Given the description of an element on the screen output the (x, y) to click on. 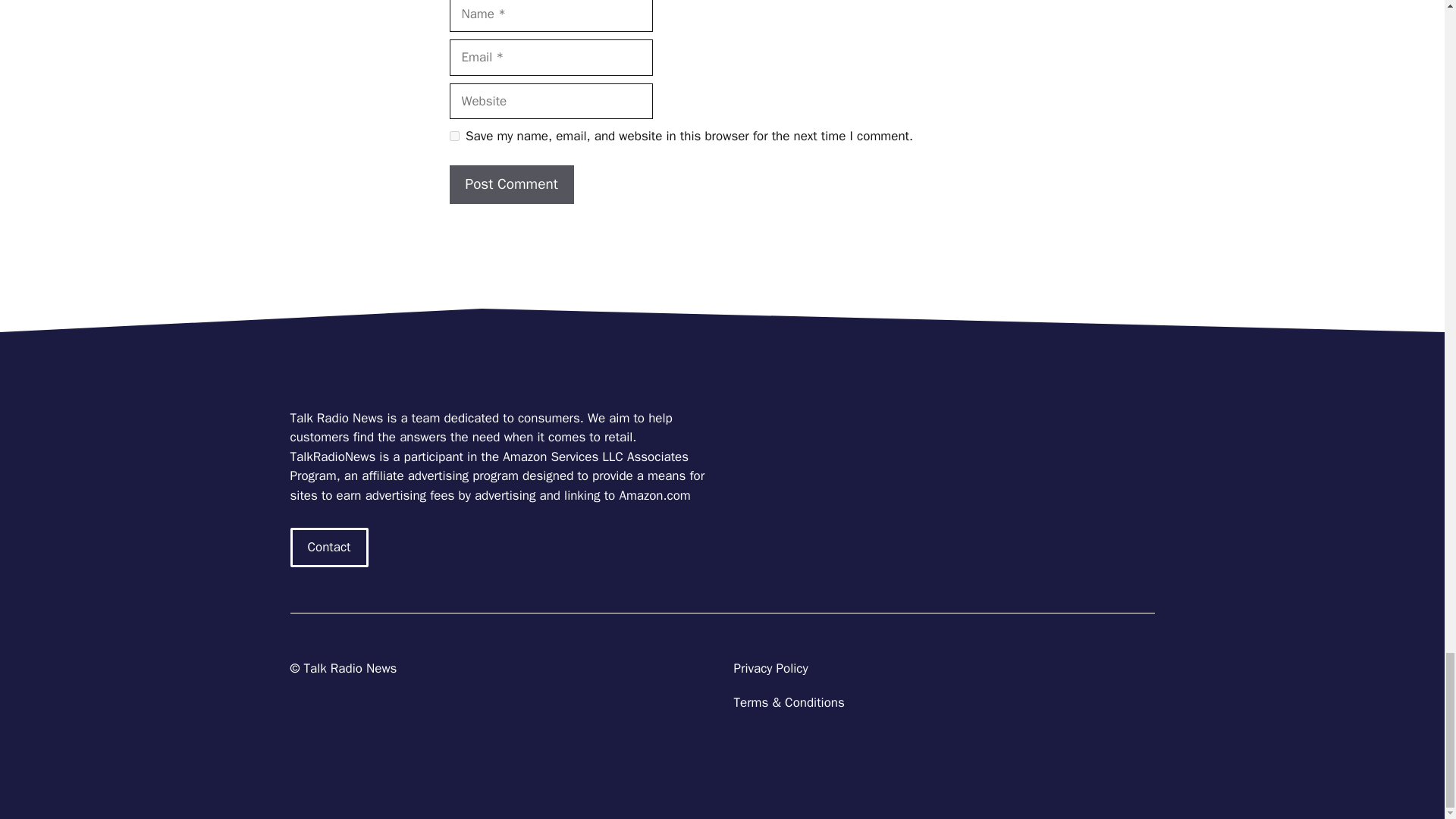
Contact (328, 547)
yes (453, 135)
Post Comment (510, 184)
Post Comment (510, 184)
Privacy Policy (770, 668)
